Given the description of an element on the screen output the (x, y) to click on. 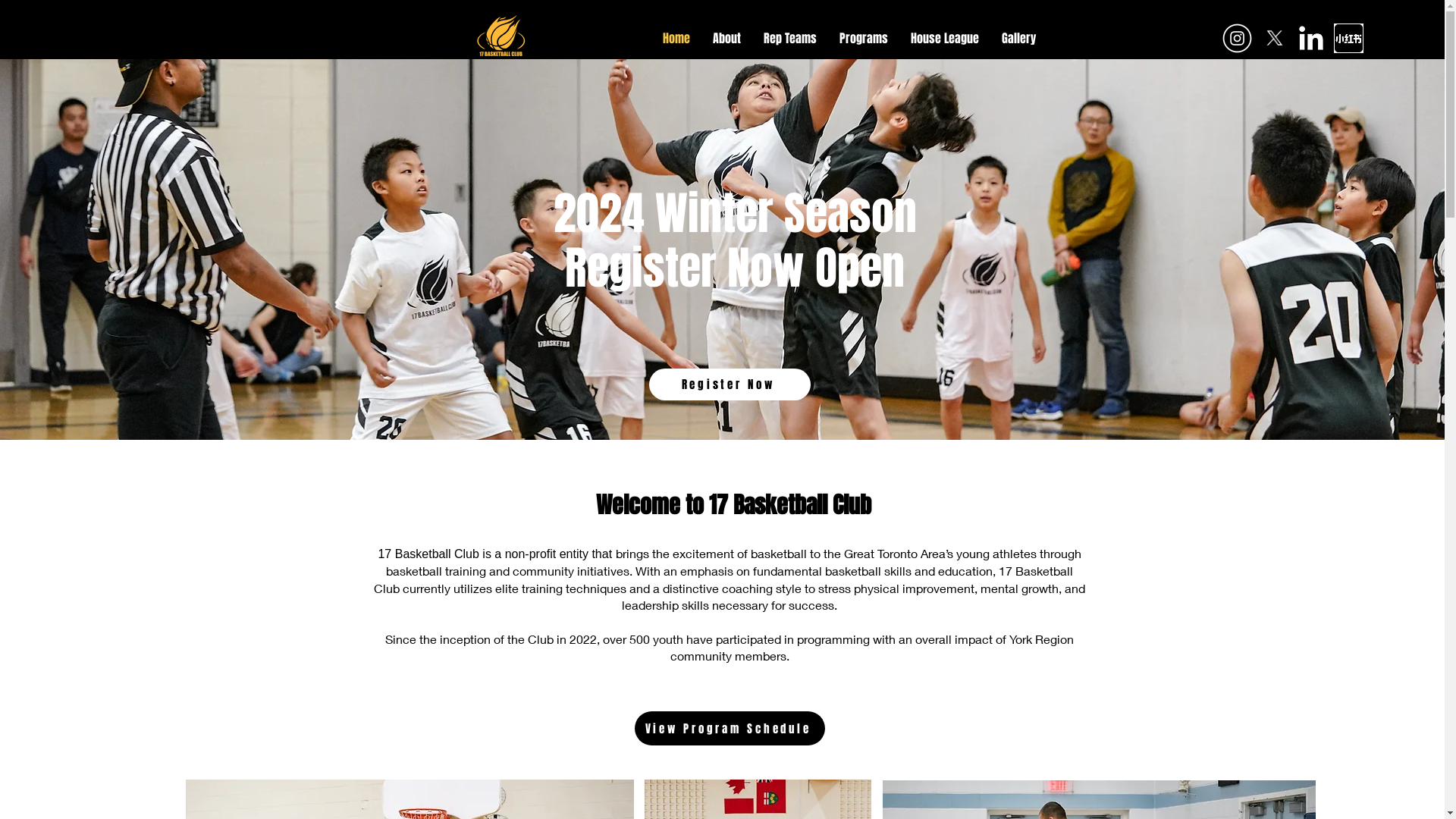
View Program Schedule Element type: text (728, 728)
Programs Element type: text (863, 38)
About Element type: text (725, 38)
Home Element type: text (675, 38)
House League Element type: text (944, 38)
Gallery Element type: text (1018, 38)
Register Now Element type: text (729, 384)
Rep Teams Element type: text (790, 38)
